Given the description of an element on the screen output the (x, y) to click on. 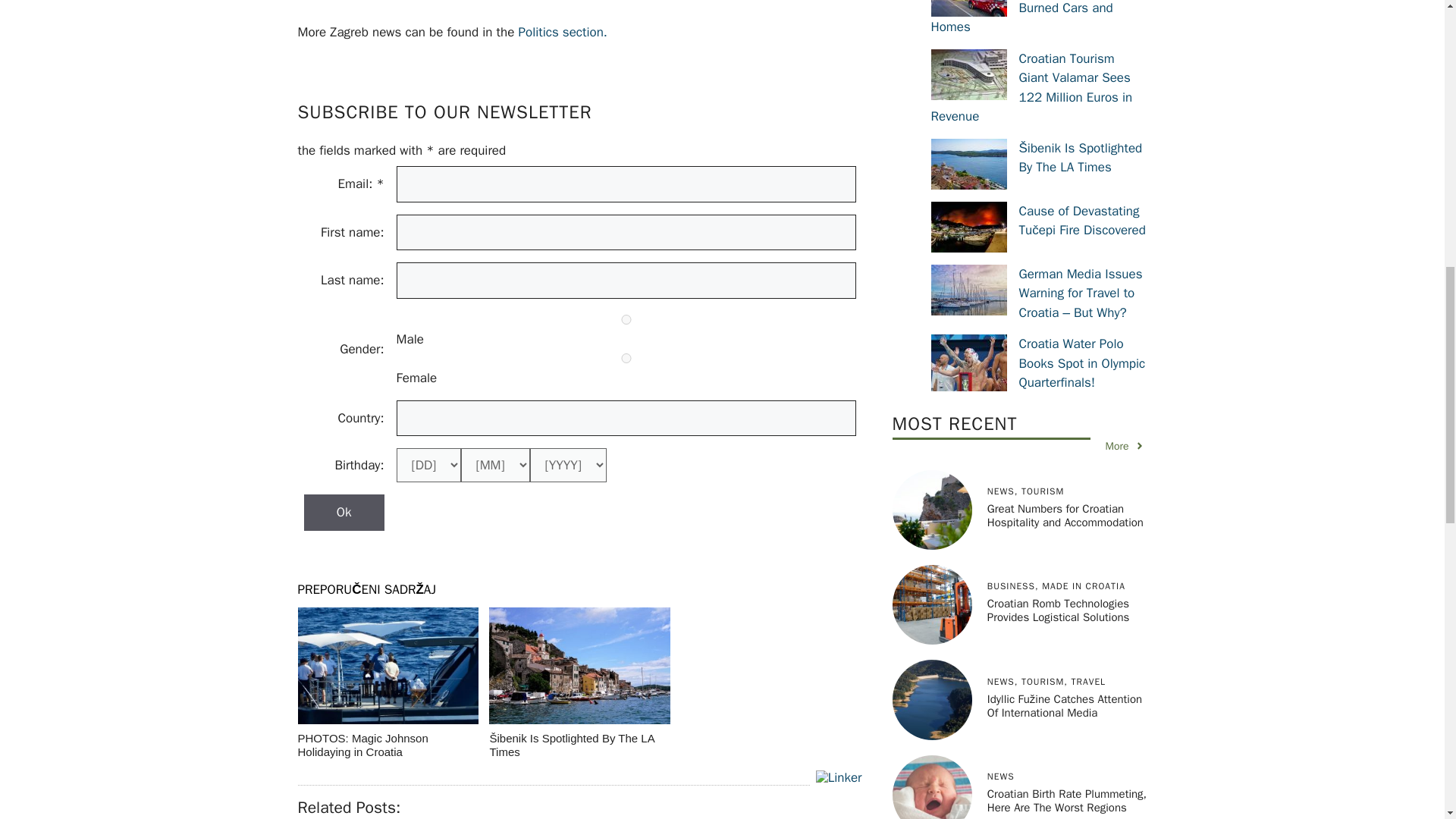
M (626, 319)
Ok (343, 512)
F (626, 357)
PHOTOS: Magic Johnson Holidaying in Croatia (387, 683)
